Given the description of an element on the screen output the (x, y) to click on. 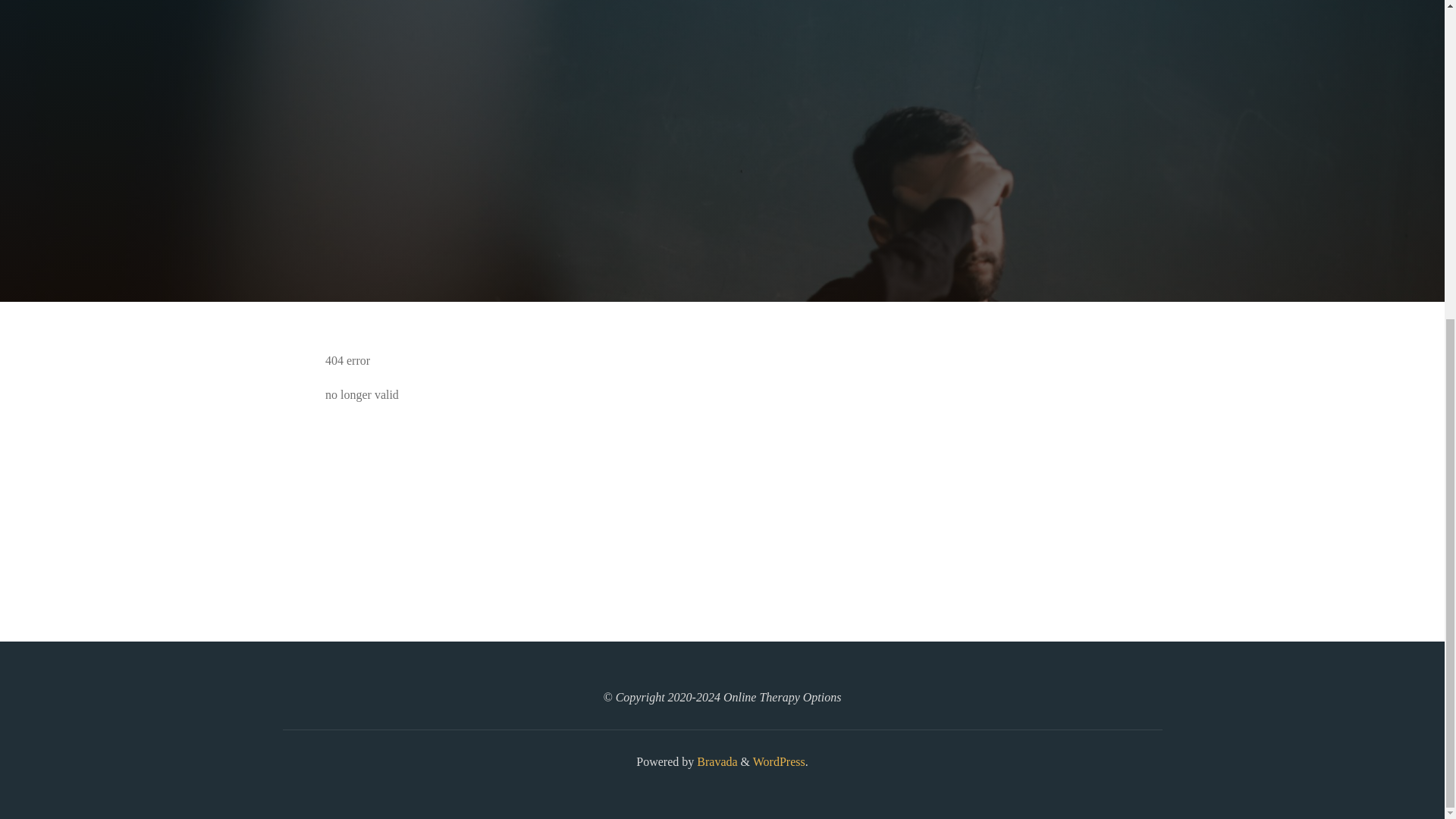
Semantic Personal Publishing Platform (778, 761)
Bravada WordPress Theme by Cryout Creations (715, 761)
WordPress (778, 761)
Read more (721, 207)
Bravada (715, 761)
